Given the description of an element on the screen output the (x, y) to click on. 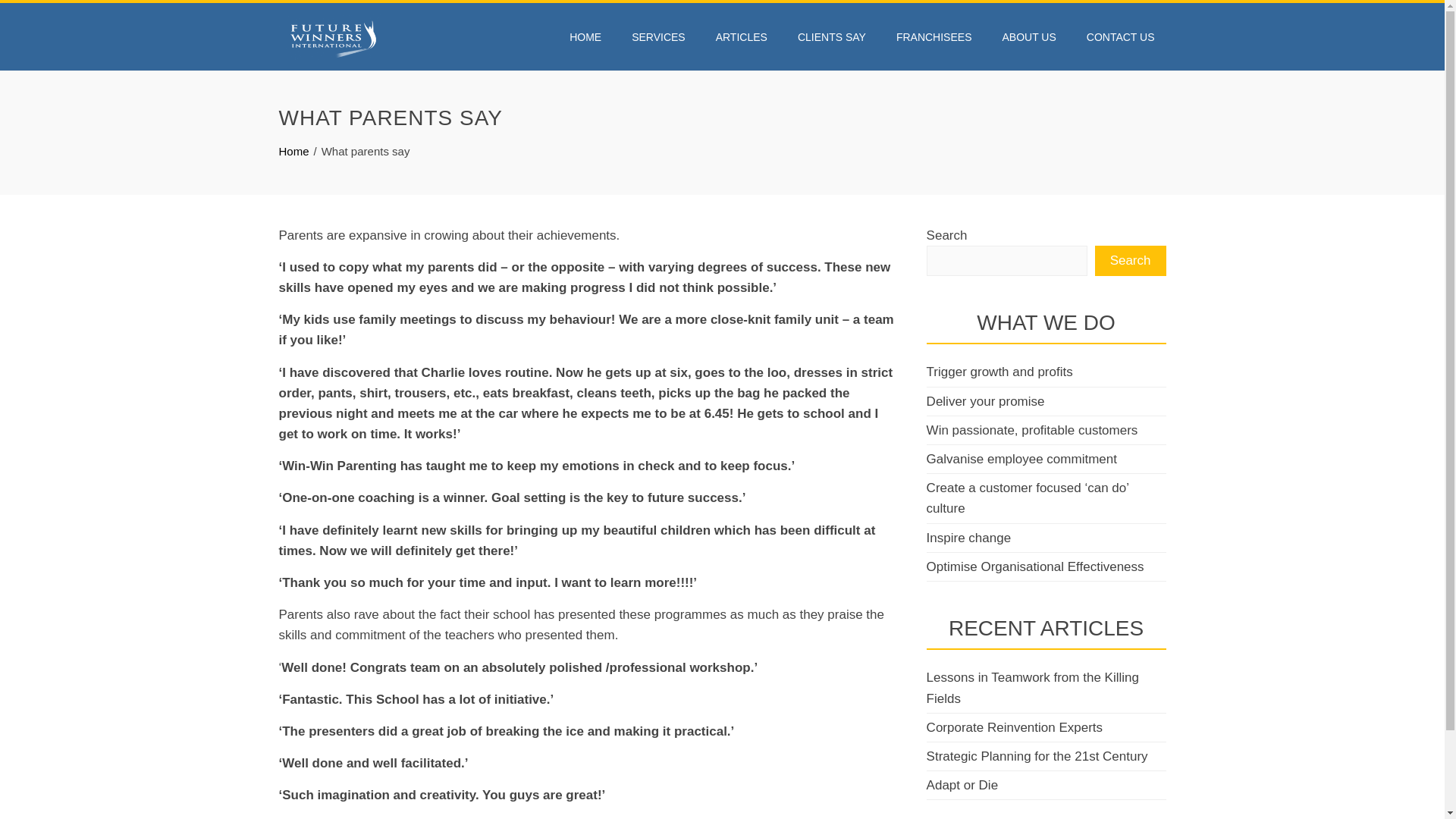
Home (293, 151)
HOME (584, 36)
Galvanise employee commitment (1021, 459)
Trigger growth and profits (999, 371)
Search (1130, 260)
Win passionate, profitable customers (1032, 430)
FRANCHISEES (934, 36)
Optimise Organisational Effectiveness (1035, 566)
Lessons in Teamwork from the Killing Fields (1032, 687)
CONTACT US (1120, 36)
CLIENTS SAY (831, 36)
SERVICES (658, 36)
Deliver your promise (985, 400)
ARTICLES (741, 36)
Inspire change (968, 537)
